Given the description of an element on the screen output the (x, y) to click on. 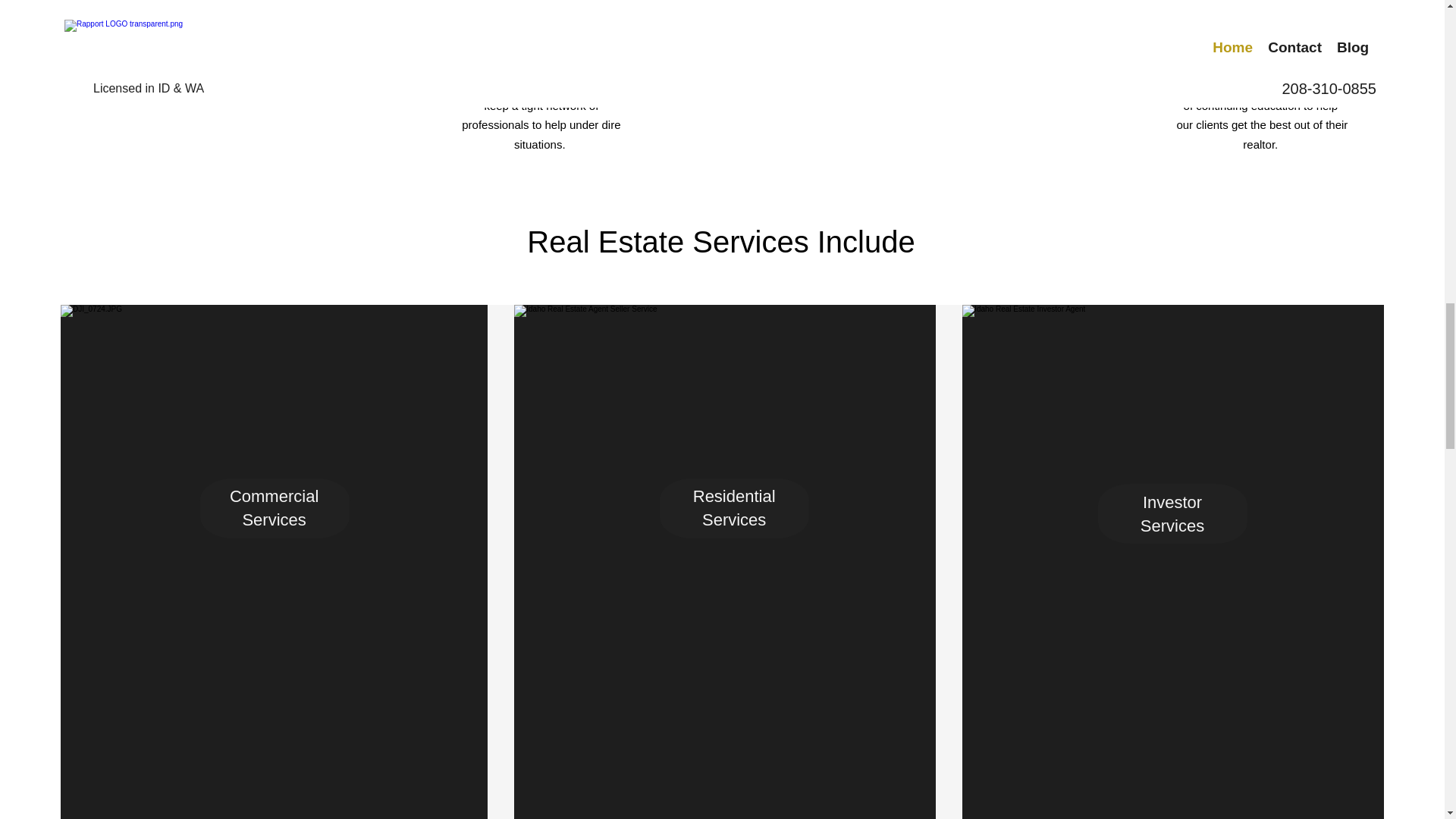
Investor (1172, 502)
Services (1172, 525)
